Given the description of an element on the screen output the (x, y) to click on. 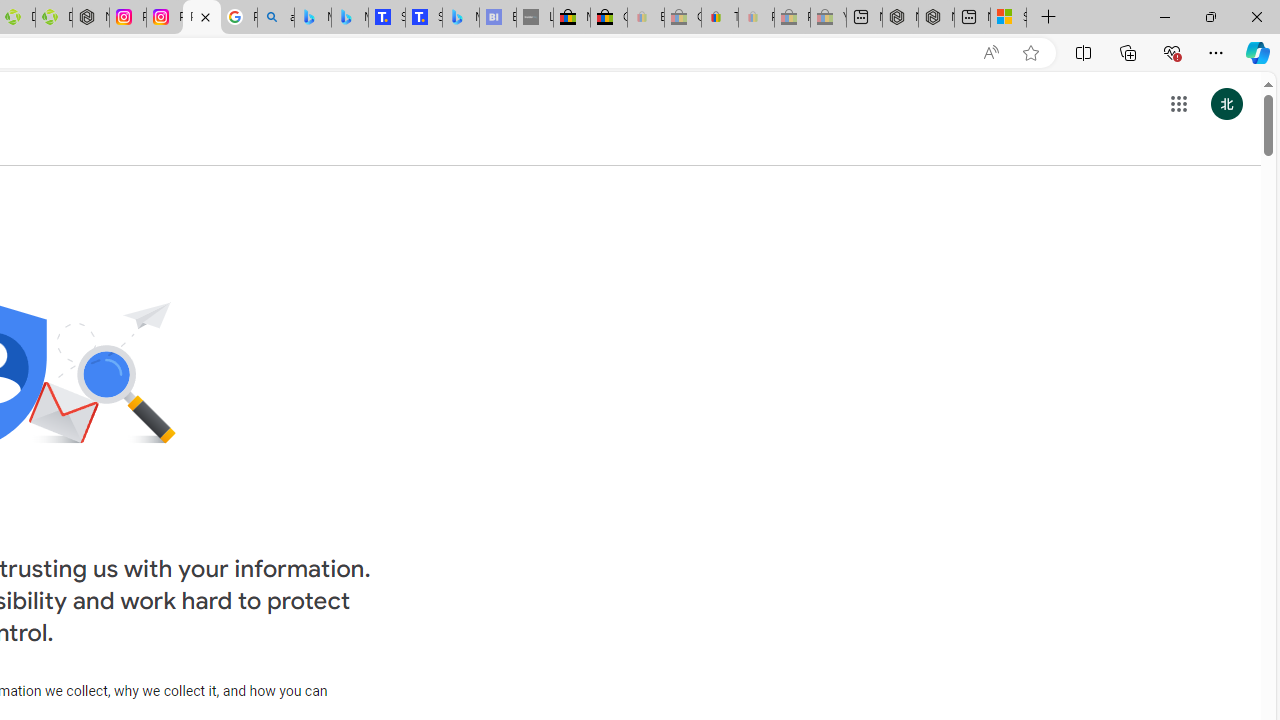
Yard, Garden & Outdoor Living - Sleeping (828, 17)
Shangri-La Bangkok, Hotel reviews and Room rates (423, 17)
Class: gb_E (1178, 103)
